Given the description of an element on the screen output the (x, y) to click on. 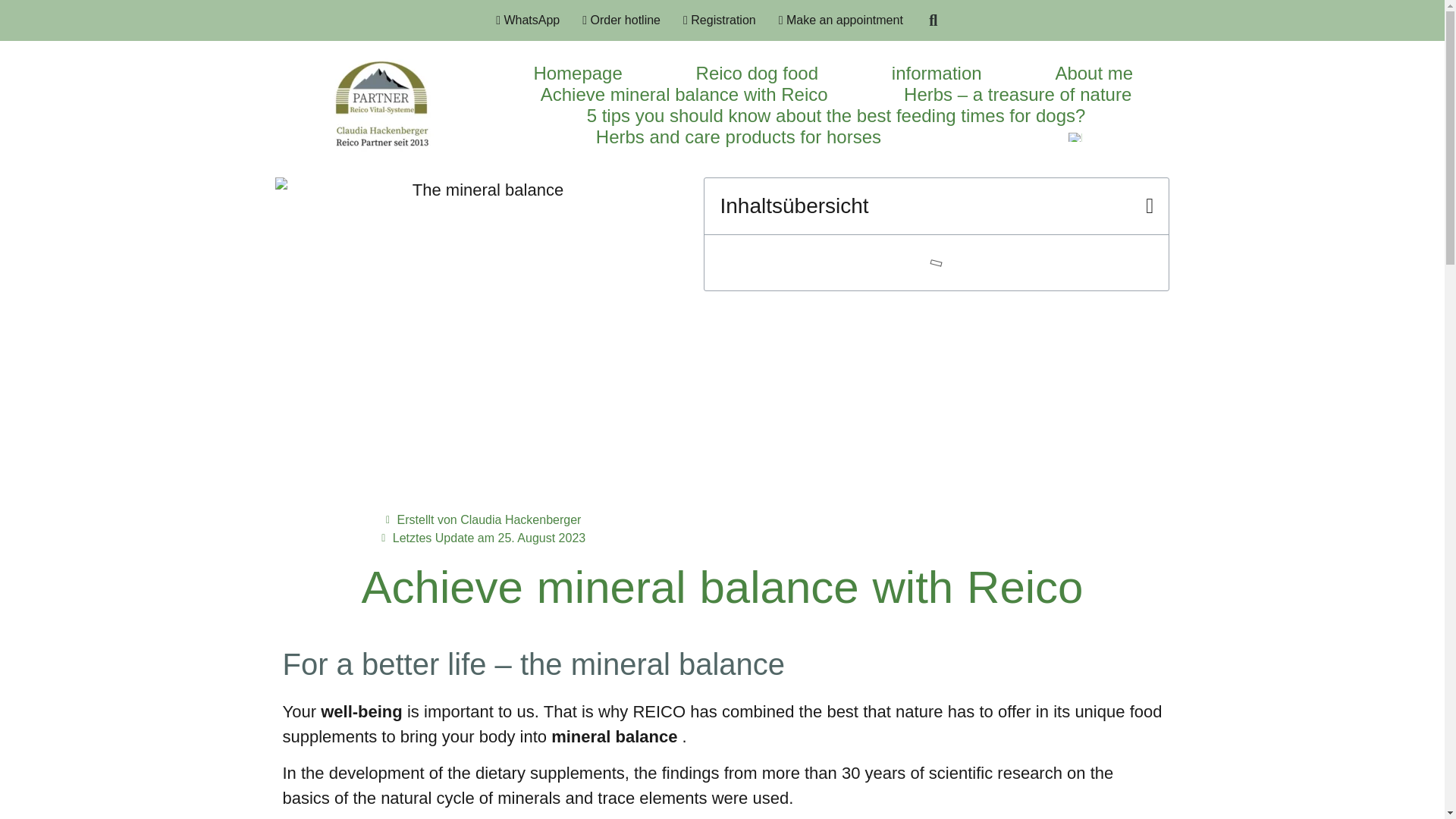
About me (1093, 73)
Reico dog food (756, 73)
Herbs and care products for horses (738, 137)
Achieve mineral balance with Reico (684, 94)
Homepage (577, 73)
information (936, 73)
